Given the description of an element on the screen output the (x, y) to click on. 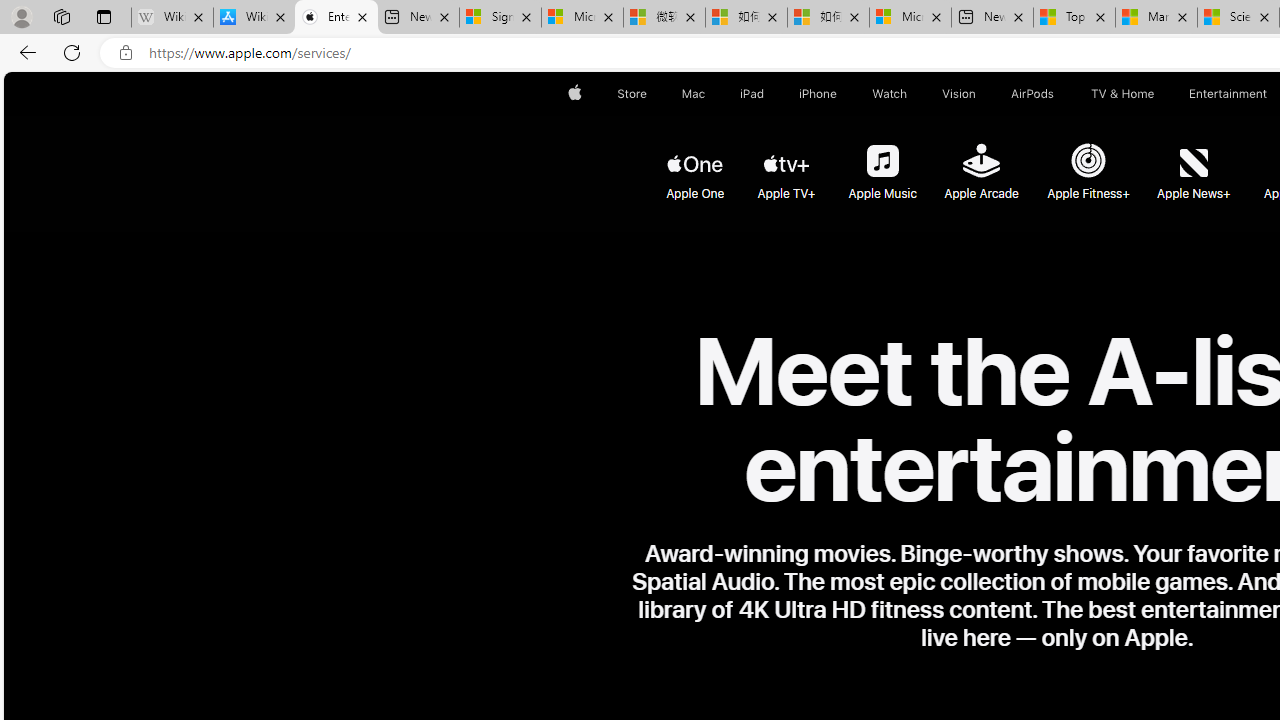
Apple Arcade (980, 162)
TV & Home (1122, 93)
iPad (750, 93)
iPad menu (767, 93)
iPhone menu (840, 93)
TV and Home menu (1157, 93)
Apple (574, 93)
TV and Home (1122, 93)
Vision menu (980, 93)
